Given the description of an element on the screen output the (x, y) to click on. 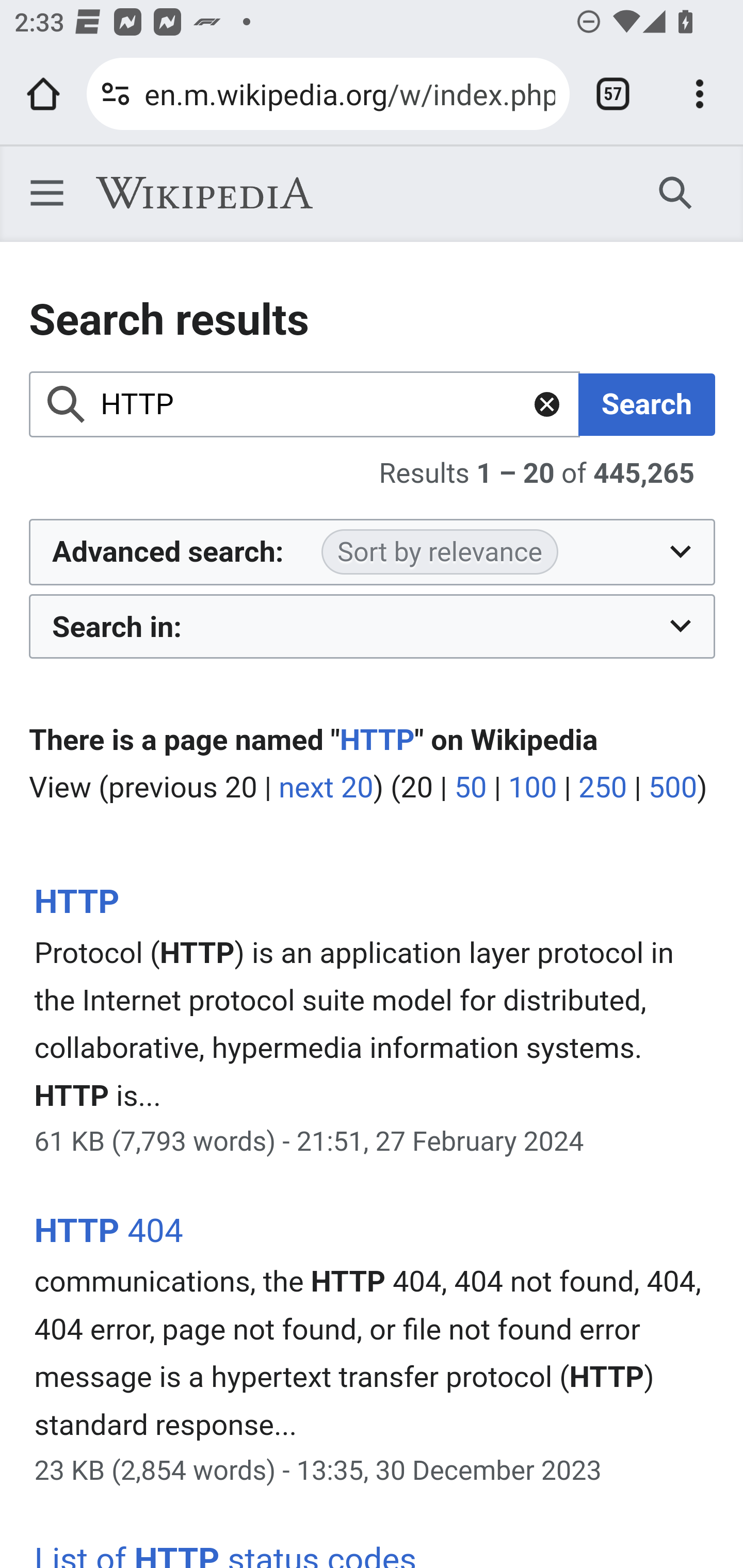
Open the home page (43, 93)
Connection is secure (115, 93)
Switch or close tabs (612, 93)
Customize and control Google Chrome (699, 93)
Search (676, 192)
Wikipedia (203, 192)
HTTP (304, 404)
Search (647, 404)
Advanced search: Sort by relevance (372, 551)
Search in: Currently active namespace filters (372, 625)
HTTP (377, 740)
next 20 (325, 786)
50 (470, 786)
100 (532, 786)
250 (603, 786)
500 (672, 786)
HTTP (76, 901)
HTTP 404 HTTP  404 (108, 1230)
